Given the description of an element on the screen output the (x, y) to click on. 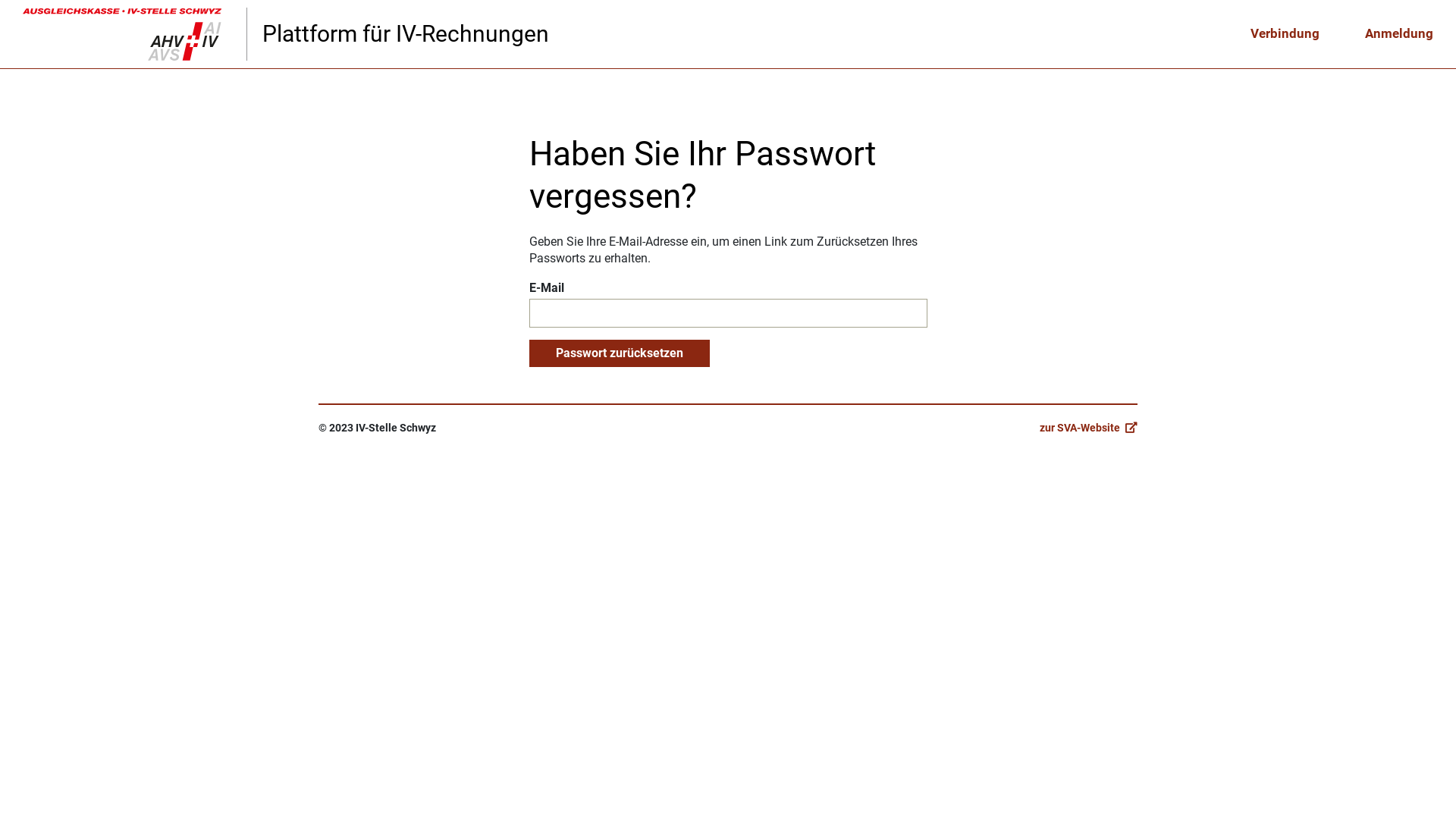
Verbindung Element type: text (1284, 34)
zur SVA-Website Element type: text (1088, 427)
